Given the description of an element on the screen output the (x, y) to click on. 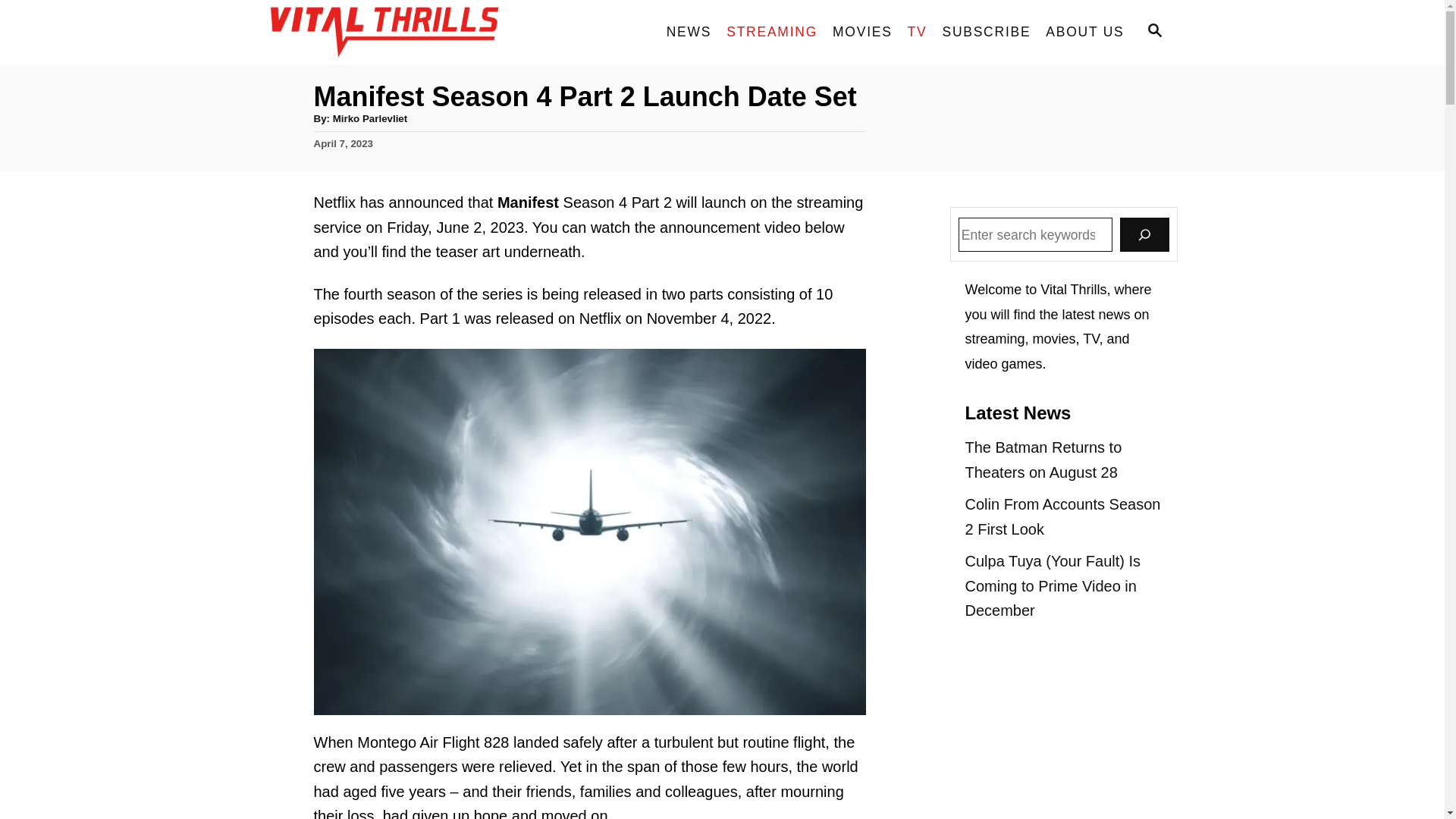
Vital Thrills (403, 32)
Mirko Parlevliet (370, 118)
TV (916, 32)
MOVIES (862, 32)
The Batman Returns to Theaters on August 28 (1062, 459)
SEARCH (1153, 31)
NEWS (689, 32)
STREAMING (772, 32)
ABOUT US (1084, 32)
SUBSCRIBE (986, 32)
Colin From Accounts Season 2 First Look (1062, 516)
